Given the description of an element on the screen output the (x, y) to click on. 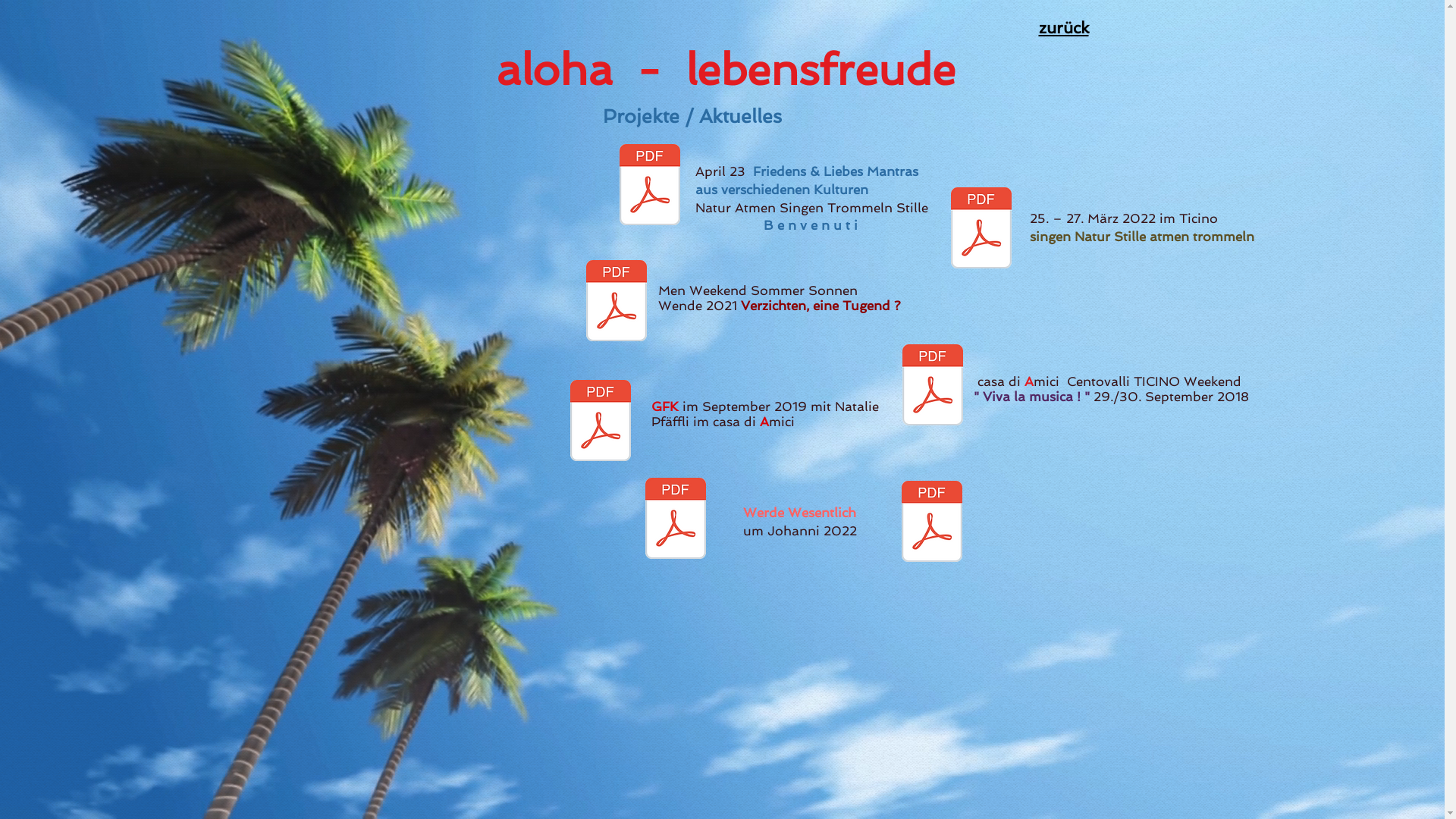
2019-07-15   GFK Flyer  Trainerin casa d Element type: hover (599, 422)
Werde Wesentlich
um Johanni 2022 Element type: text (799, 521)
2018-09-02 casa di Amici.pdf Element type: hover (931, 386)
